Given the description of an element on the screen output the (x, y) to click on. 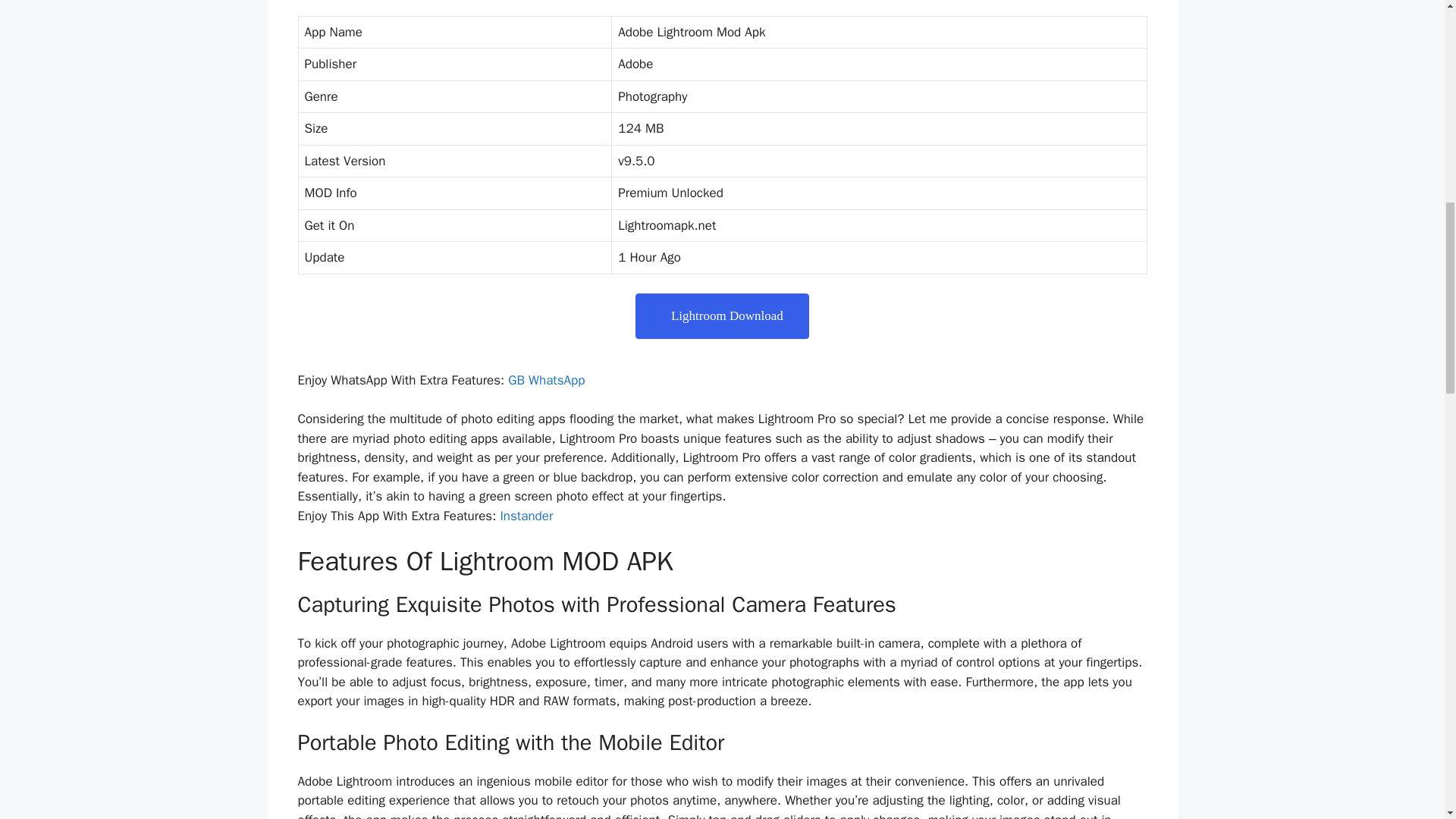
GB WhatsApp (546, 380)
Instander (526, 515)
   Lightroom Download (721, 316)
Scroll back to top (1406, 720)
